Given the description of an element on the screen output the (x, y) to click on. 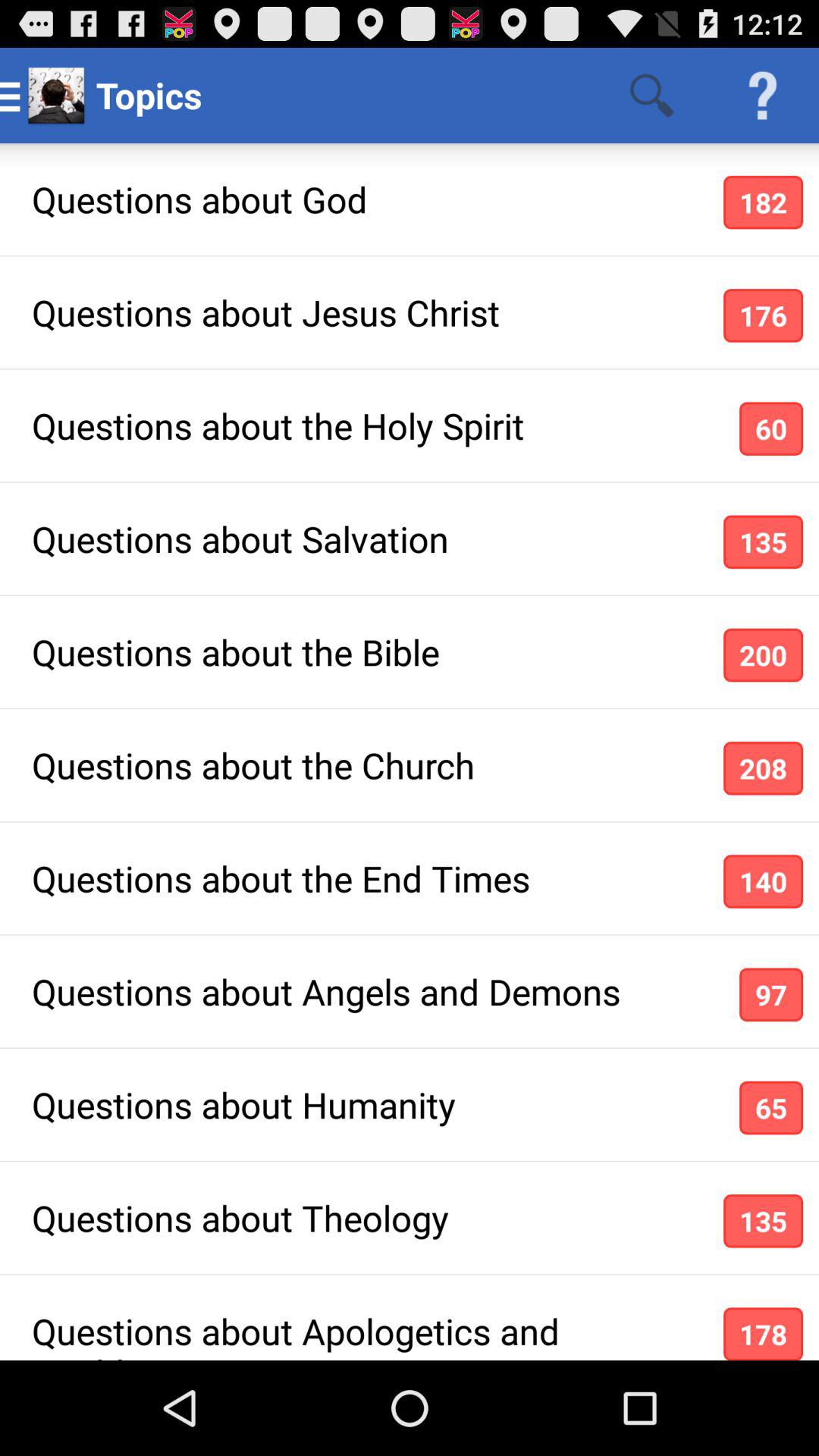
press the 208 item (763, 768)
